Given the description of an element on the screen output the (x, y) to click on. 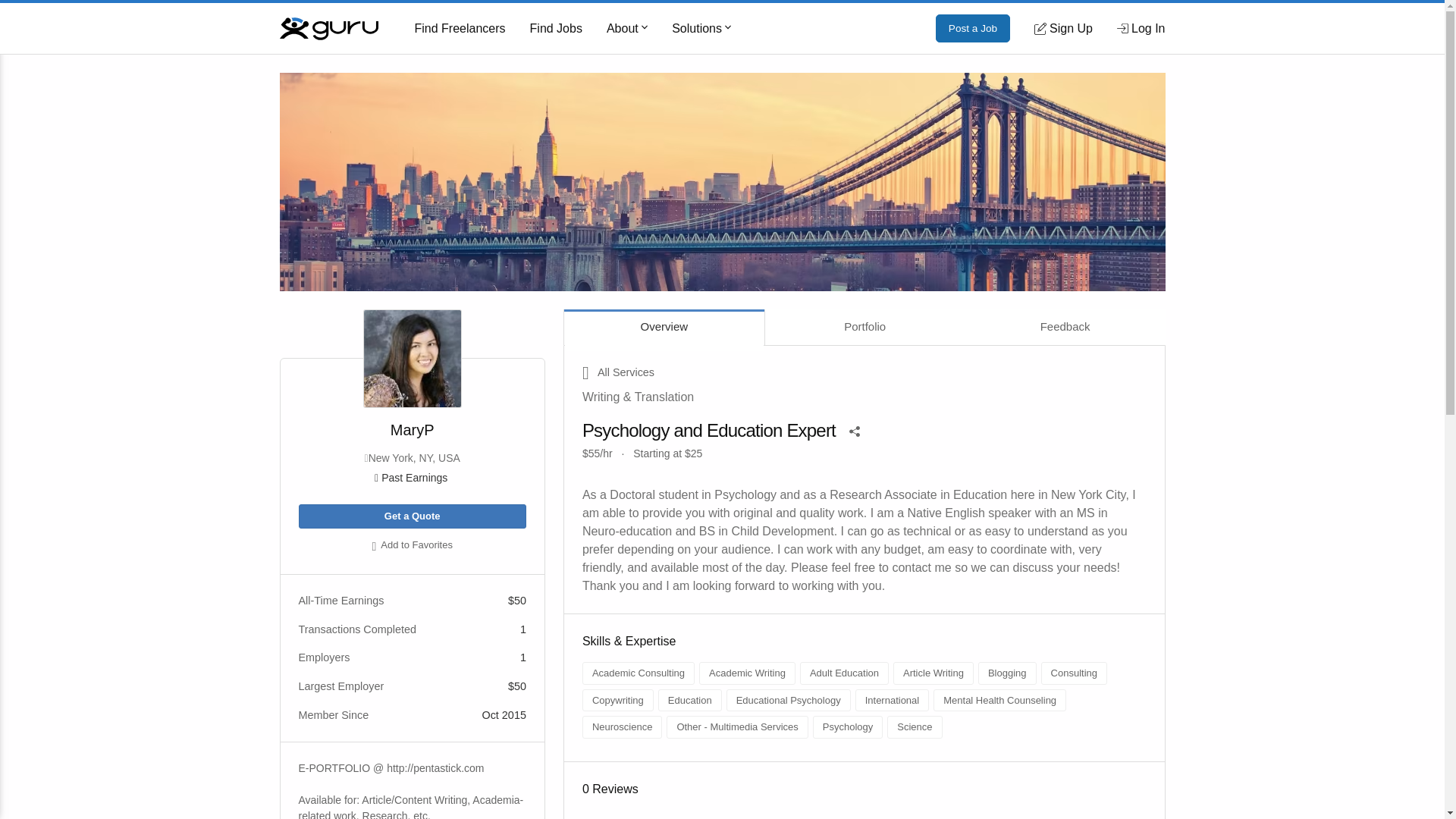
Get a Quote (411, 516)
Find Freelancers (459, 28)
Sign Up (1063, 28)
Log In (1140, 28)
Guru (328, 27)
Find a Freelancer (459, 28)
Post a Job (973, 28)
Earnings in last 12 months (411, 477)
Post a Job (973, 28)
Find a Job (555, 28)
Add to Favorites (411, 546)
Find Jobs (555, 28)
